Given the description of an element on the screen output the (x, y) to click on. 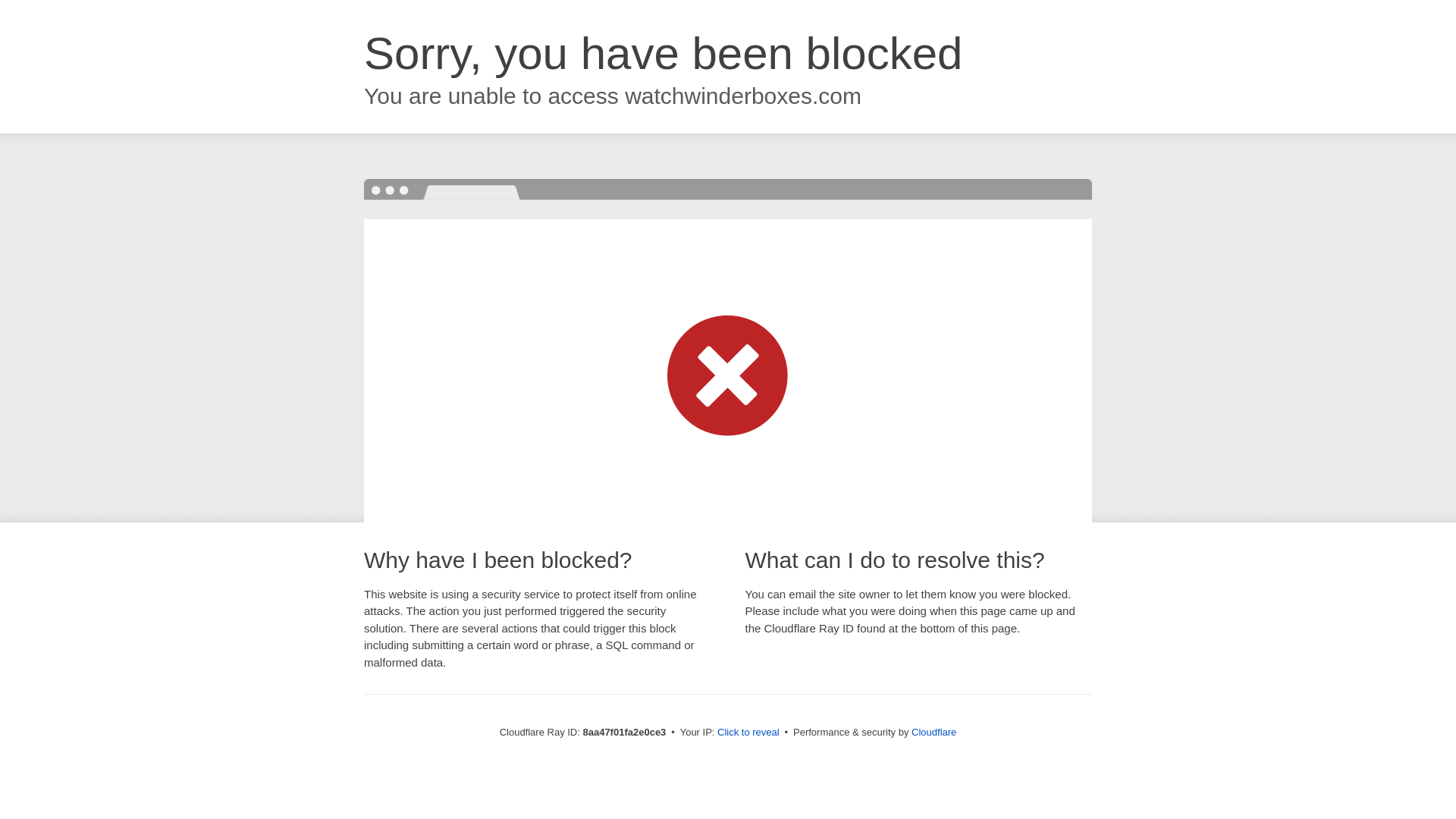
Click to reveal (747, 732)
Cloudflare (933, 731)
